Given the description of an element on the screen output the (x, y) to click on. 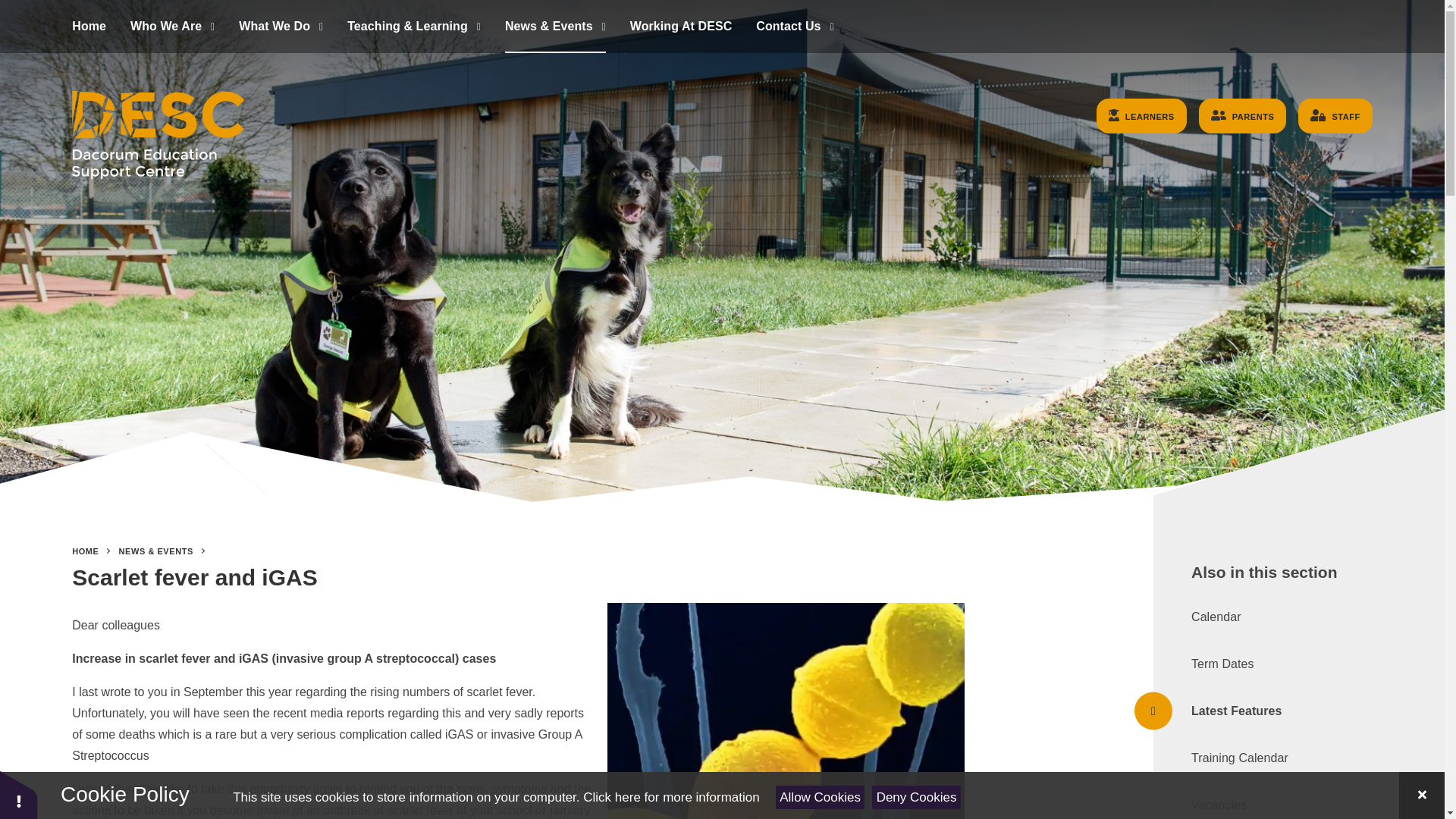
What We Do (280, 26)
Who We Are (172, 26)
See cookie policy (670, 797)
Allow Cookies (820, 797)
Deny Cookies (915, 797)
